Given the description of an element on the screen output the (x, y) to click on. 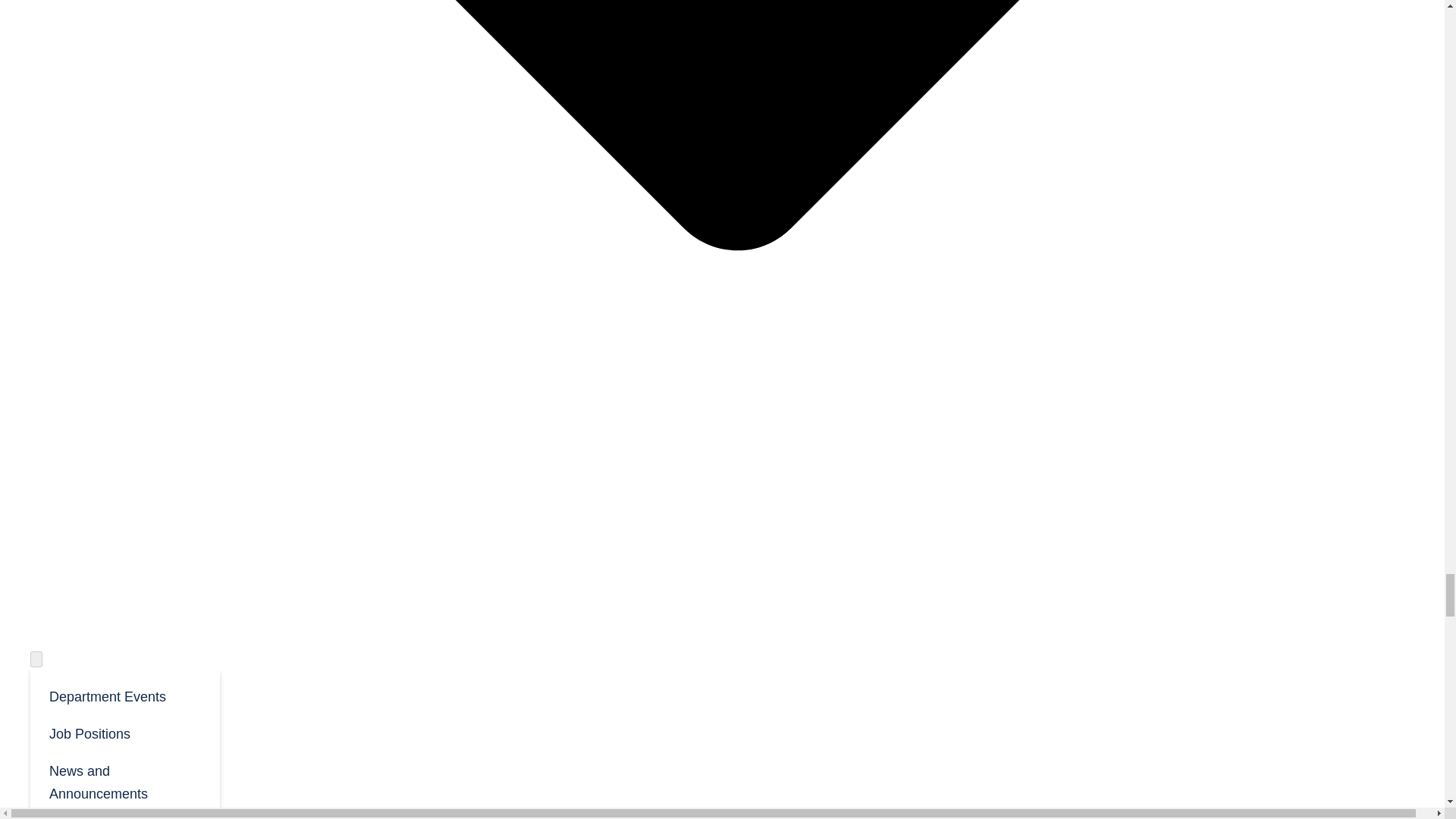
Department Events (125, 695)
COVID-19 Resources (125, 815)
News and Announcements (125, 781)
Job Positions (125, 732)
